Given the description of an element on the screen output the (x, y) to click on. 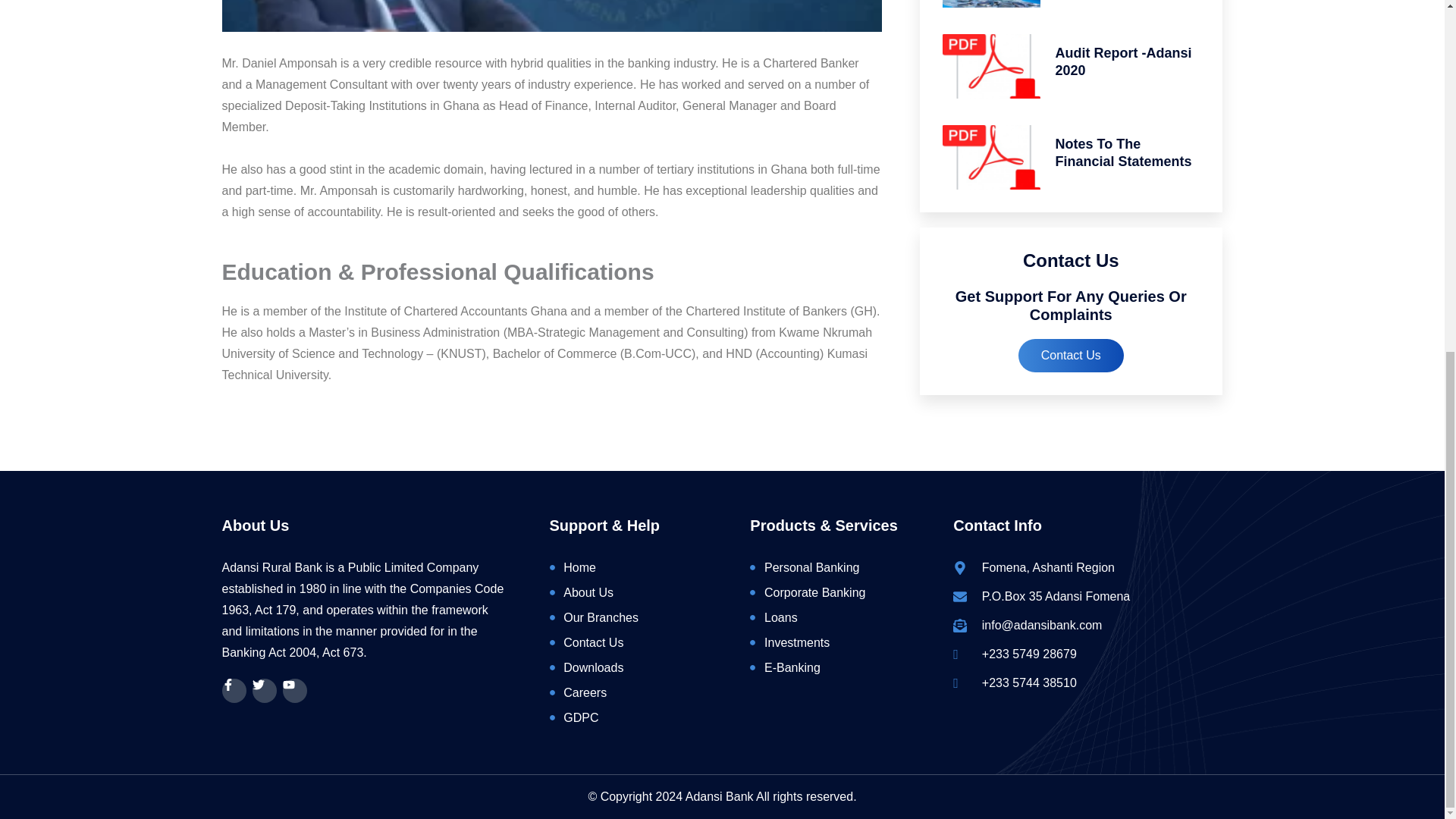
Notes To The Financial Statements (1123, 152)
Contact Us (1070, 355)
Facebook-f (233, 690)
Twitter (263, 690)
Audit Report -Adansi 2020 (1123, 61)
